Given the description of an element on the screen output the (x, y) to click on. 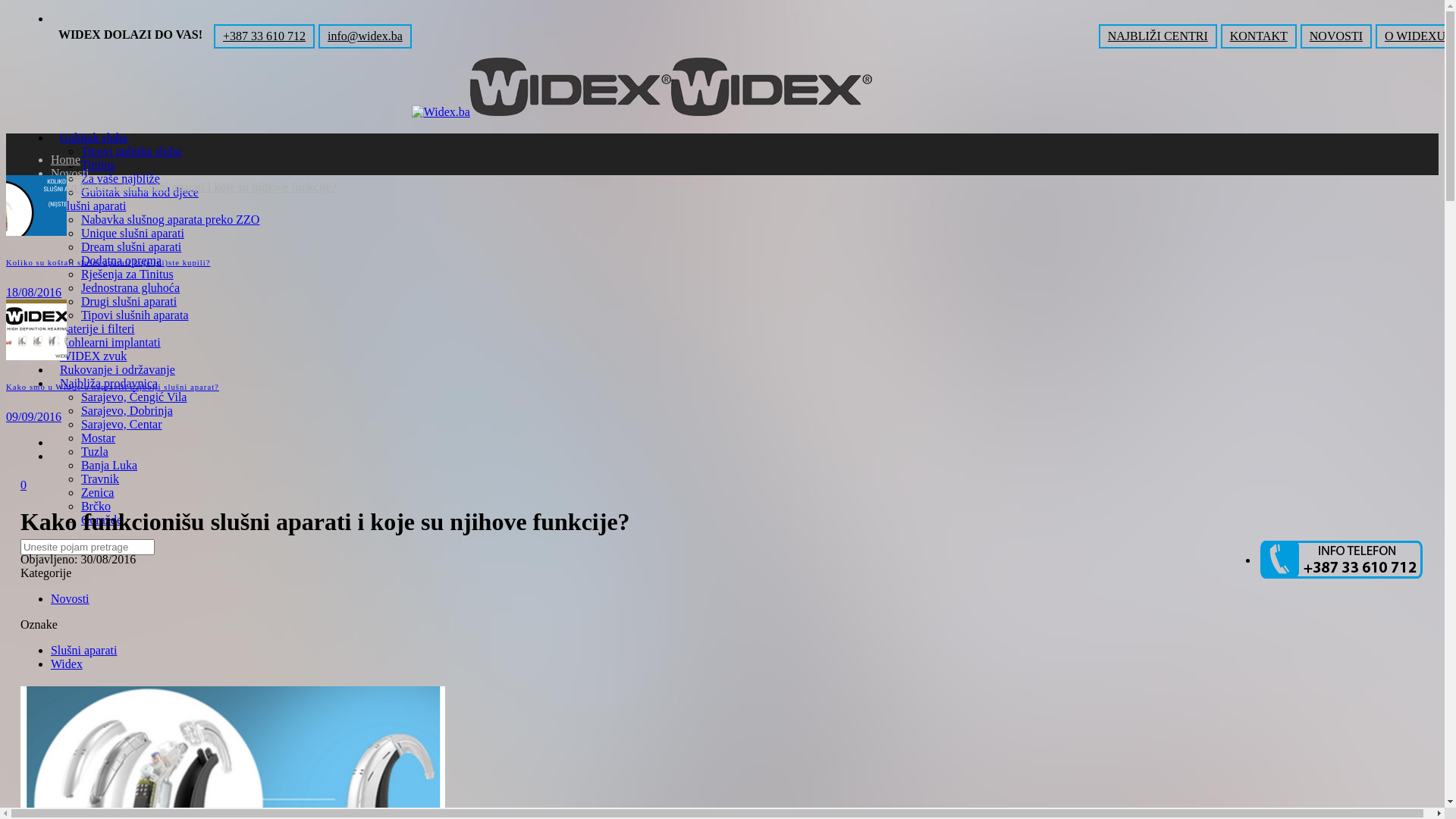
Baterije i filteri Element type: text (97, 328)
+387 33 610 712 Element type: text (263, 35)
Gubitak sluha kod djece Element type: text (139, 191)
Widex d.o.o. Element type: hover (641, 111)
Widex Element type: text (66, 663)
Gubitak sluha Element type: text (93, 137)
Sarajevo, Centar Element type: text (121, 423)
O WIDEXU Element type: text (1414, 35)
Kohlearni implantati Element type: text (109, 341)
Novosti Element type: text (69, 598)
NOVOSTI Element type: text (1335, 35)
Banja Luka Element type: text (109, 464)
KONTAKT Element type: text (1258, 35)
Travnik Element type: text (100, 478)
Zenica Element type: text (97, 492)
0 Element type: text (23, 484)
Dodatna oprema Element type: text (121, 260)
Tinitus Element type: text (98, 164)
Mostar Element type: text (98, 437)
Tipovi gubitka sluha Element type: text (131, 150)
Home Element type: text (65, 159)
Novosti Element type: text (69, 172)
WIDEX zvuk Element type: text (92, 355)
Tuzla Element type: text (94, 451)
Sarajevo, Dobrinja Element type: text (126, 410)
info@widex.ba Element type: text (364, 35)
